Given the description of an element on the screen output the (x, y) to click on. 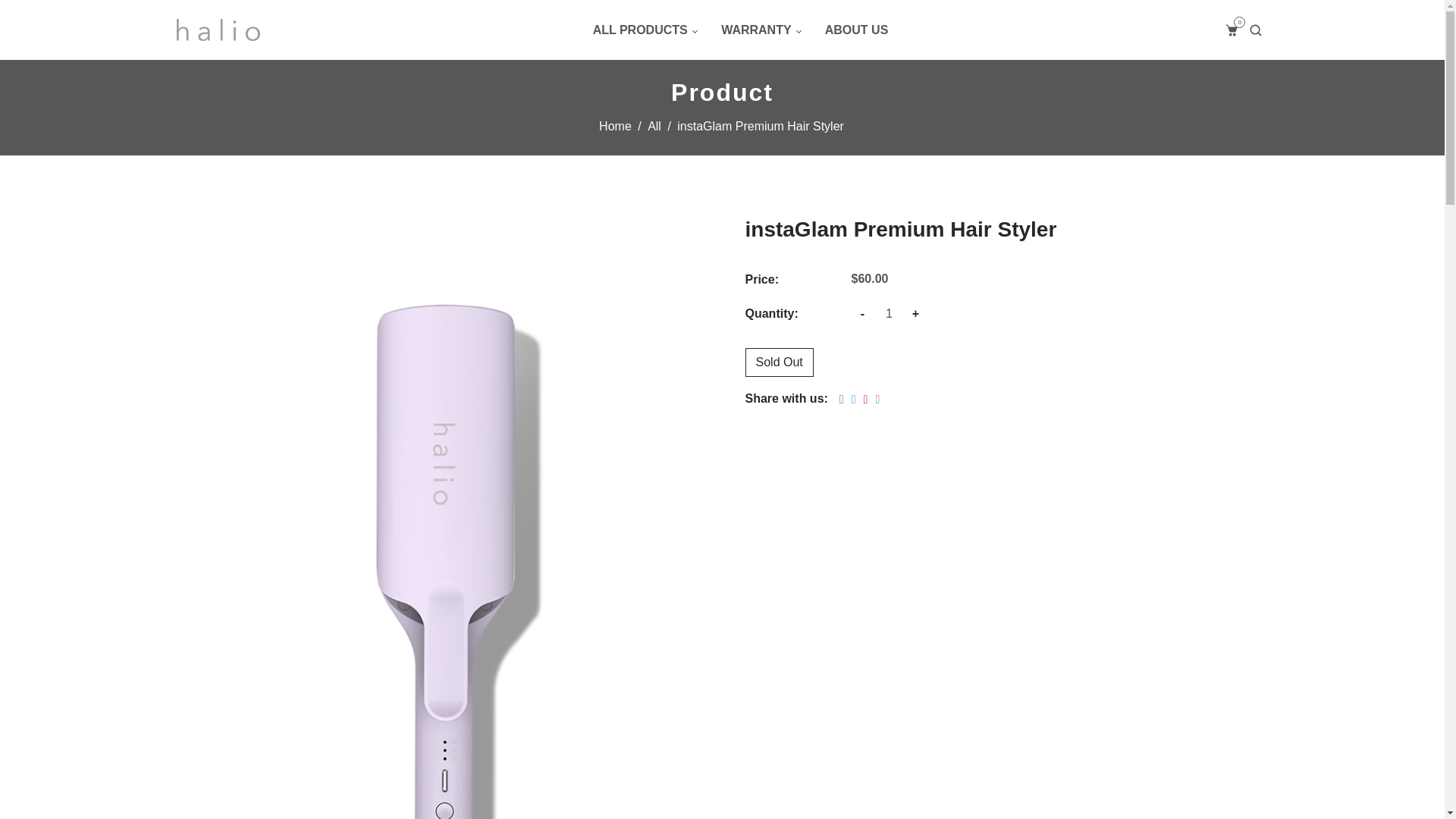
- (861, 313)
ALL PRODUCTS (643, 29)
Search (1255, 29)
1 (888, 313)
WARRANTY (761, 29)
Home (1231, 29)
instaGlam Premium Hair Styler (615, 126)
ABOUT US (615, 126)
All (856, 29)
